Given the description of an element on the screen output the (x, y) to click on. 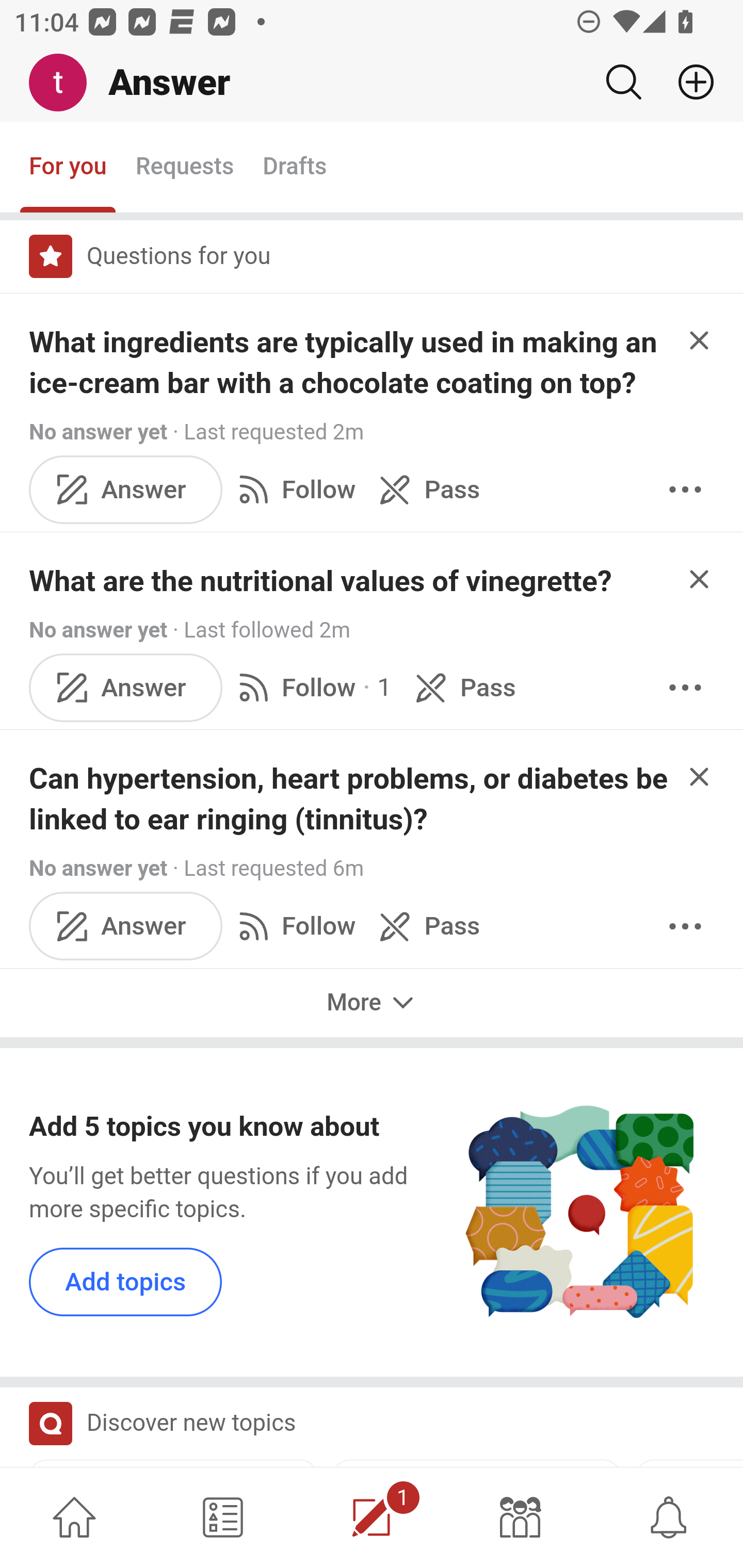
Me (64, 83)
Search (623, 82)
Add (688, 82)
For you (68, 167)
Requests (183, 167)
Drafts (295, 167)
Hide (699, 340)
No answer yet (97, 431)
Answer (125, 488)
Follow (293, 488)
Pass (425, 488)
More (684, 488)
Hide (699, 579)
What are the nutritional values of vinegrette? (320, 580)
No answer yet (97, 629)
Answer (125, 687)
Follow · 1 (311, 687)
Pass (461, 687)
More (684, 687)
Hide (699, 776)
No answer yet (97, 868)
Answer (125, 925)
Follow (293, 925)
Pass (425, 925)
More (684, 925)
More (371, 1002)
Add topics (125, 1281)
